Given the description of an element on the screen output the (x, y) to click on. 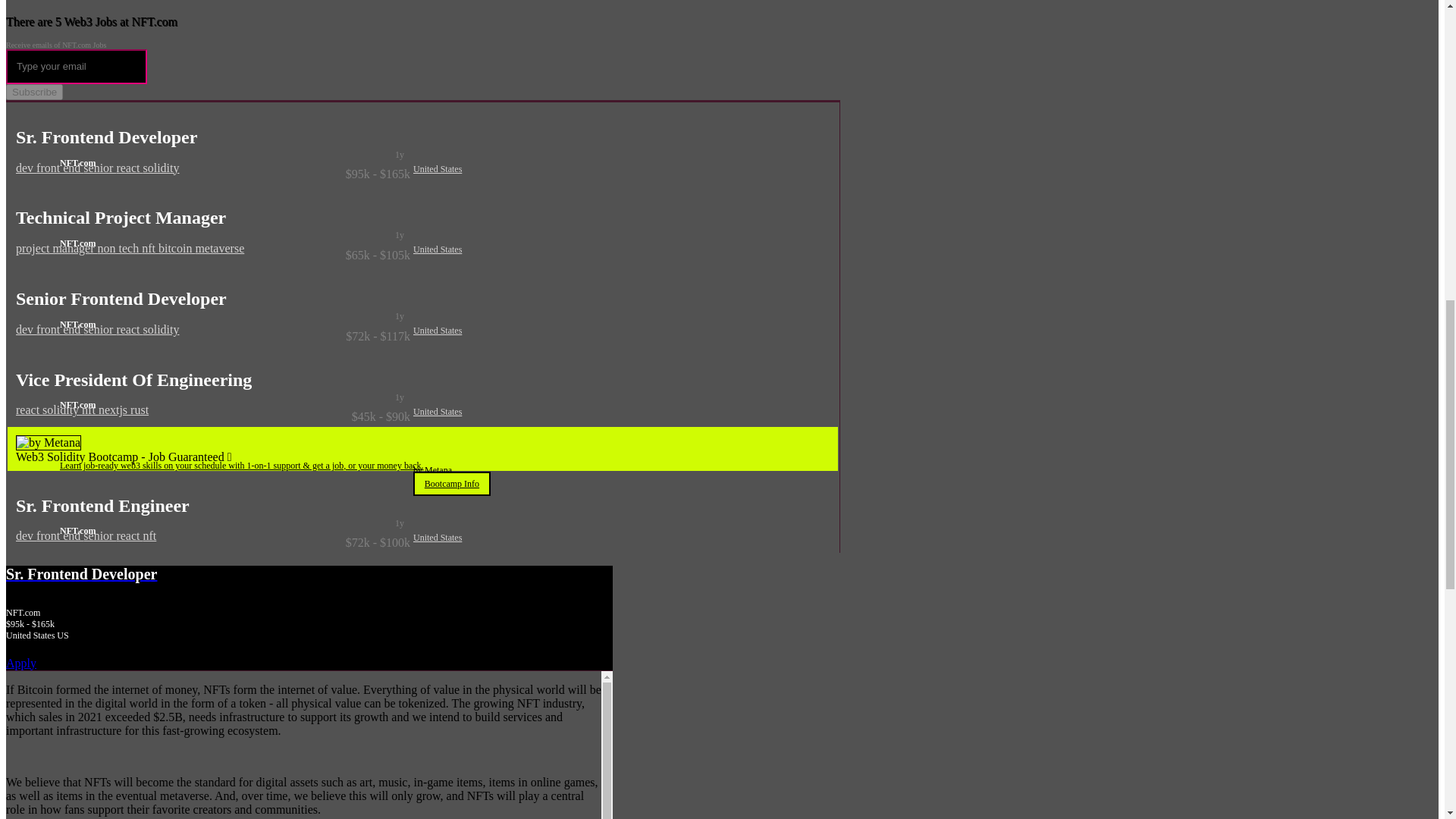
Estimated salary based on similar jobs (213, 336)
Subscribe (33, 91)
Estimated salary based on similar jobs (213, 542)
Estimated salary based on similar jobs (213, 417)
